Given the description of an element on the screen output the (x, y) to click on. 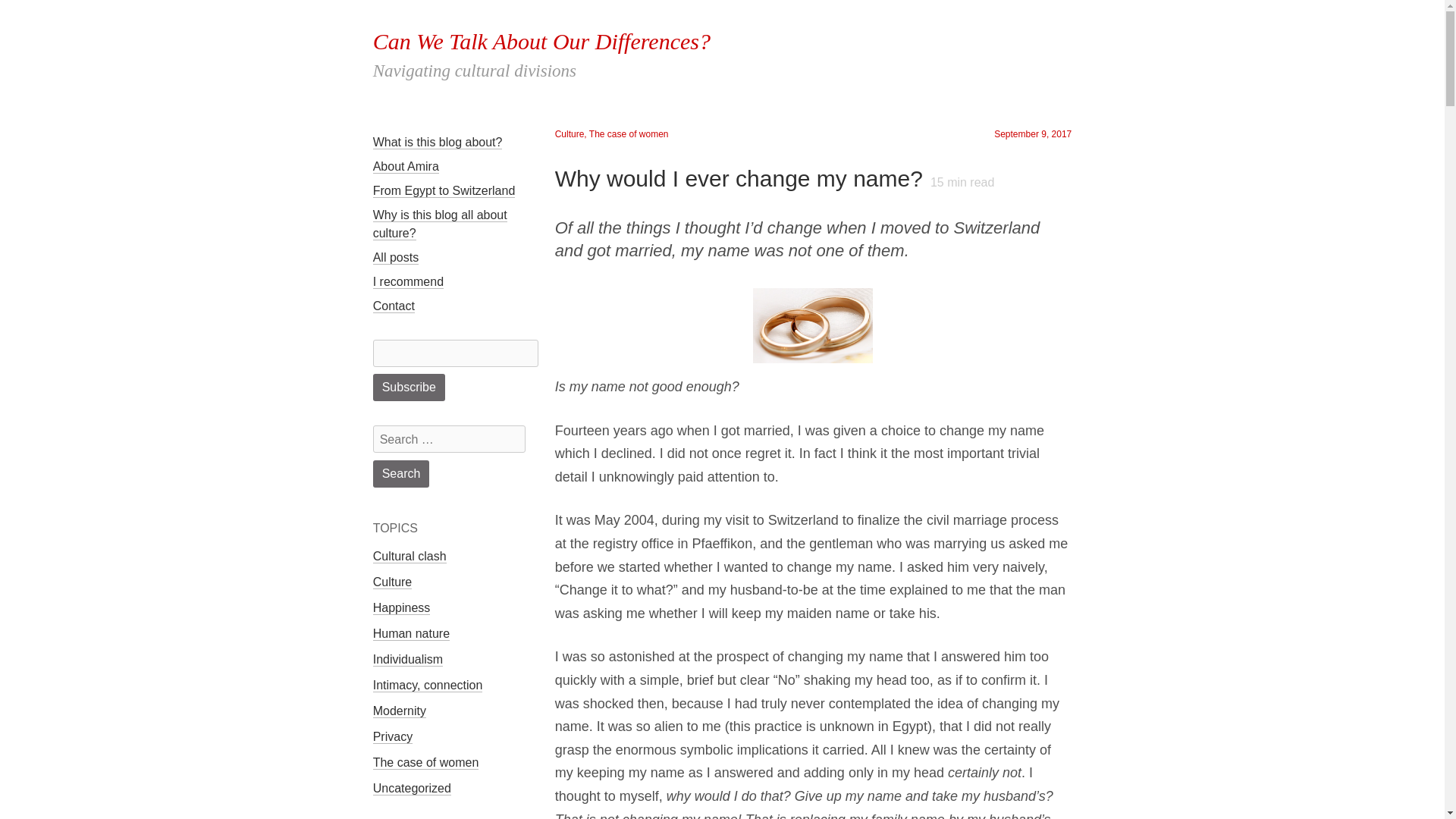
Individualism (407, 659)
Subscribe (408, 387)
Culture (392, 581)
From Egypt to Switzerland (443, 190)
Search (400, 473)
Search (400, 473)
Intimacy, connection (427, 685)
Contact (393, 305)
All posts (395, 256)
Modernity (399, 711)
I recommend (408, 281)
Happiness (401, 608)
About Amira (405, 165)
Culture (569, 133)
